Given the description of an element on the screen output the (x, y) to click on. 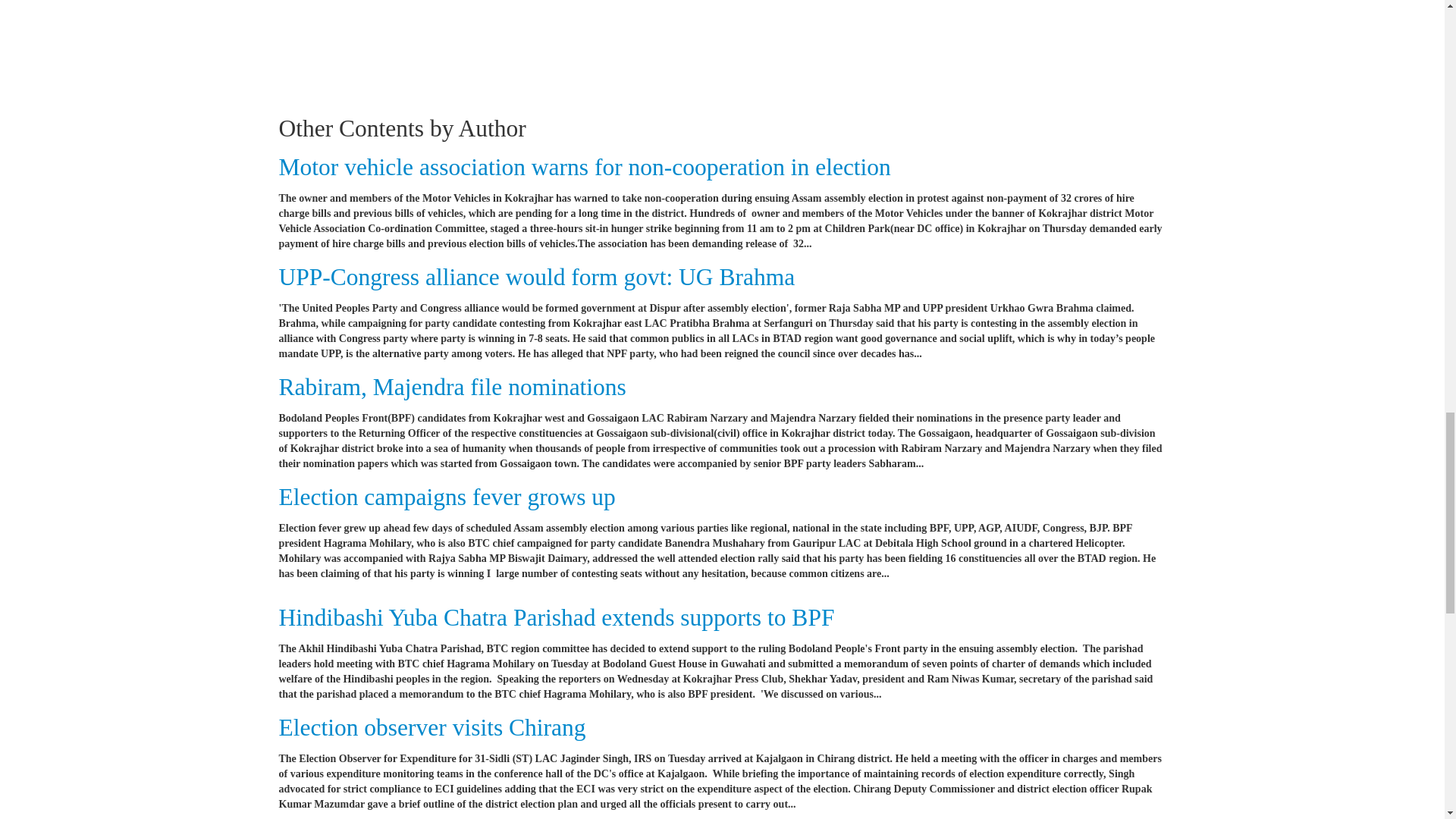
Election observer visits Chirang (432, 727)
Rabiram, Majendra file nominations (452, 386)
UPP-Congress alliance would form govt: UG Brahma (536, 276)
Election campaigns fever grows up (447, 497)
Hindibashi Yuba Chatra Parishad extends supports to BPF (556, 617)
